Given the description of an element on the screen output the (x, y) to click on. 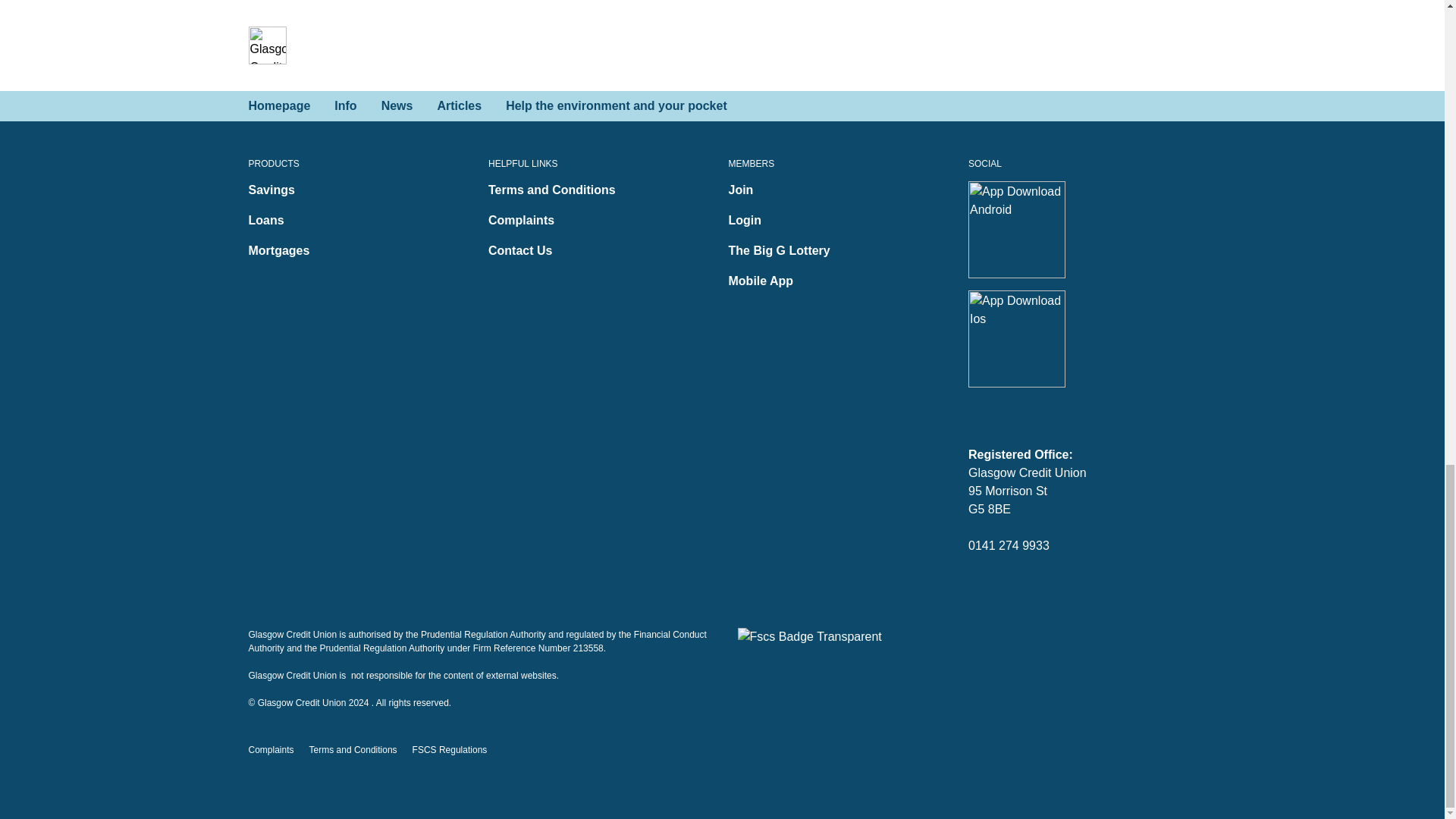
Savings (271, 189)
